Given the description of an element on the screen output the (x, y) to click on. 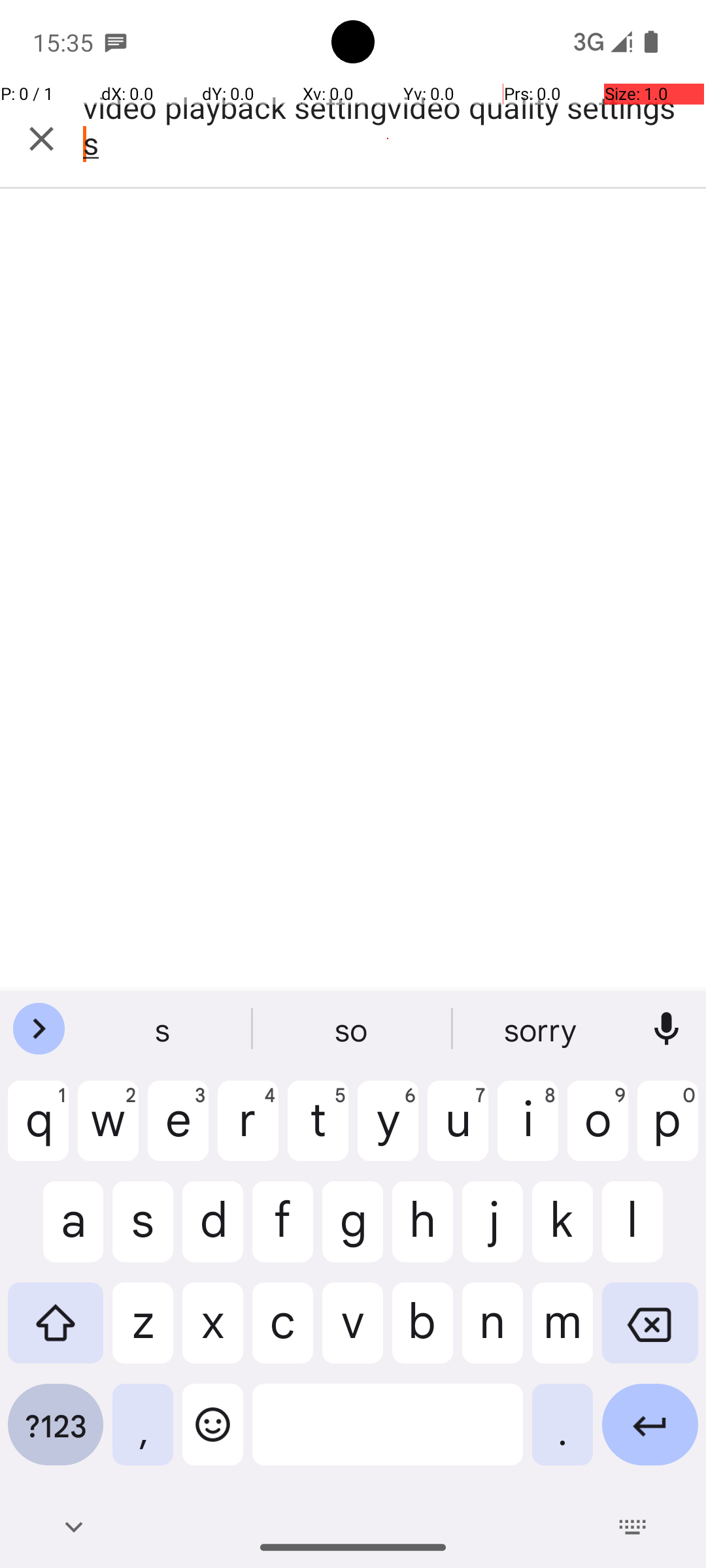
video playback settingvideo quality settings
s
 Element type: android.widget.EditText (387, 138)
so Element type: android.widget.FrameLayout (352, 1028)
sorry Element type: android.widget.FrameLayout (541, 1028)
